Given the description of an element on the screen output the (x, y) to click on. 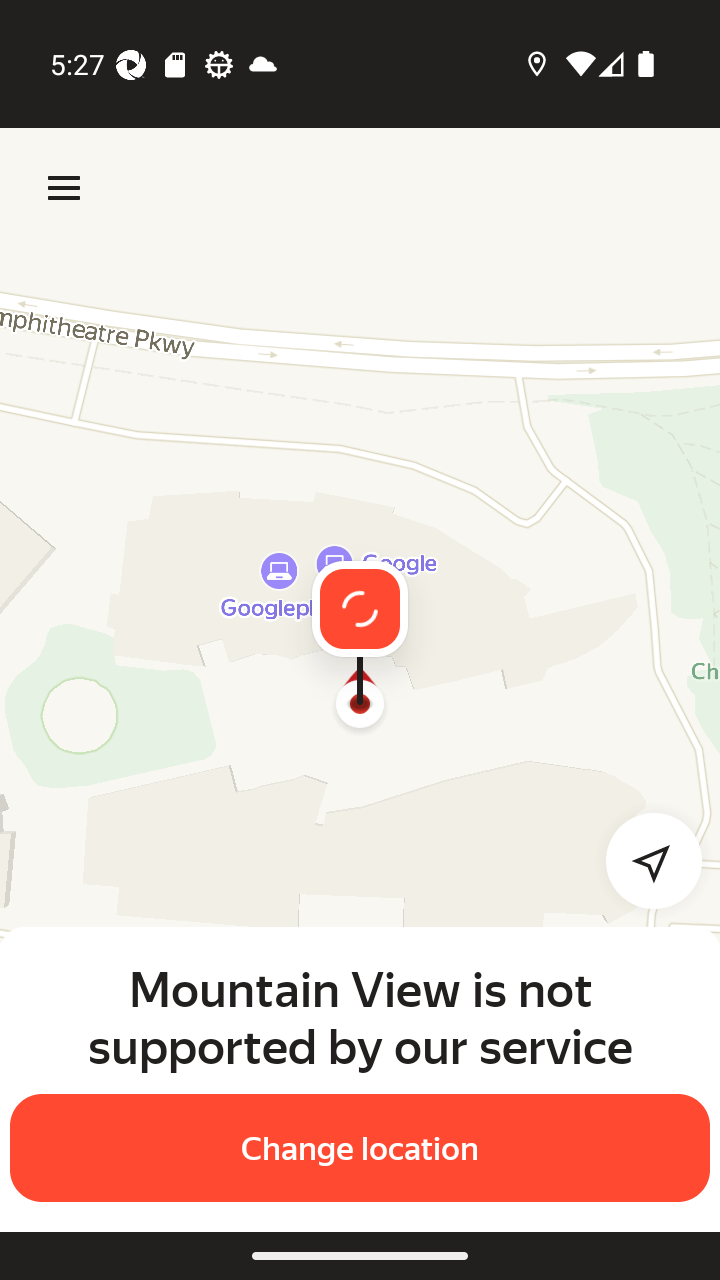
Menu Menu Menu (64, 188)
Detect my location (641, 860)
Mountain View is not supported by our service (360, 1017)
Change location (359, 1147)
